Given the description of an element on the screen output the (x, y) to click on. 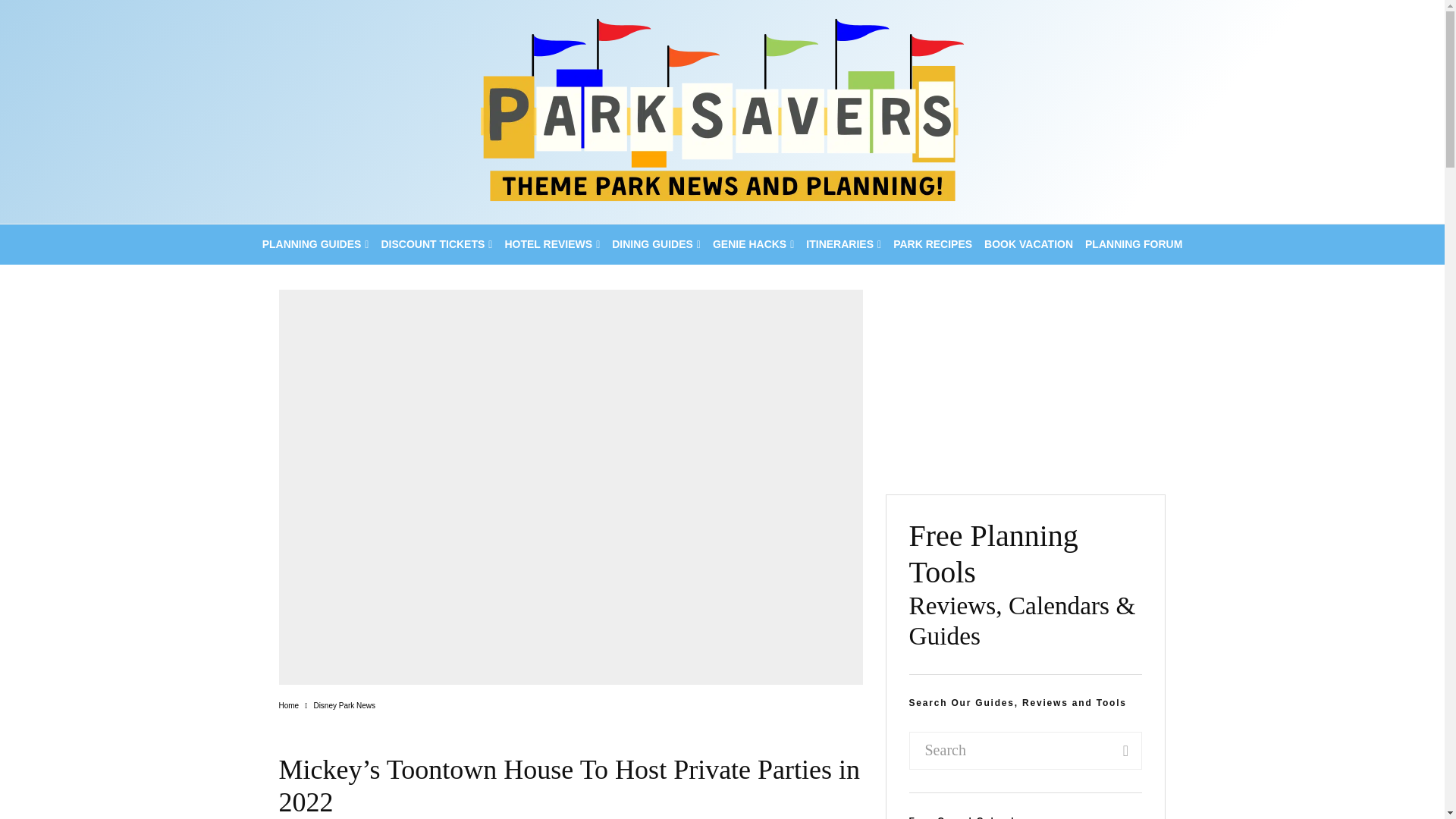
DISCOUNT TICKETS (435, 244)
PLANNING FORUM (1133, 244)
HOTEL REVIEWS (551, 244)
PARK RECIPES (932, 244)
DINING GUIDES (655, 244)
BOOK VACATION (1028, 244)
ITINERARIES (842, 244)
PLANNING GUIDES (315, 244)
GENIE HACKS (752, 244)
